Given the description of an element on the screen output the (x, y) to click on. 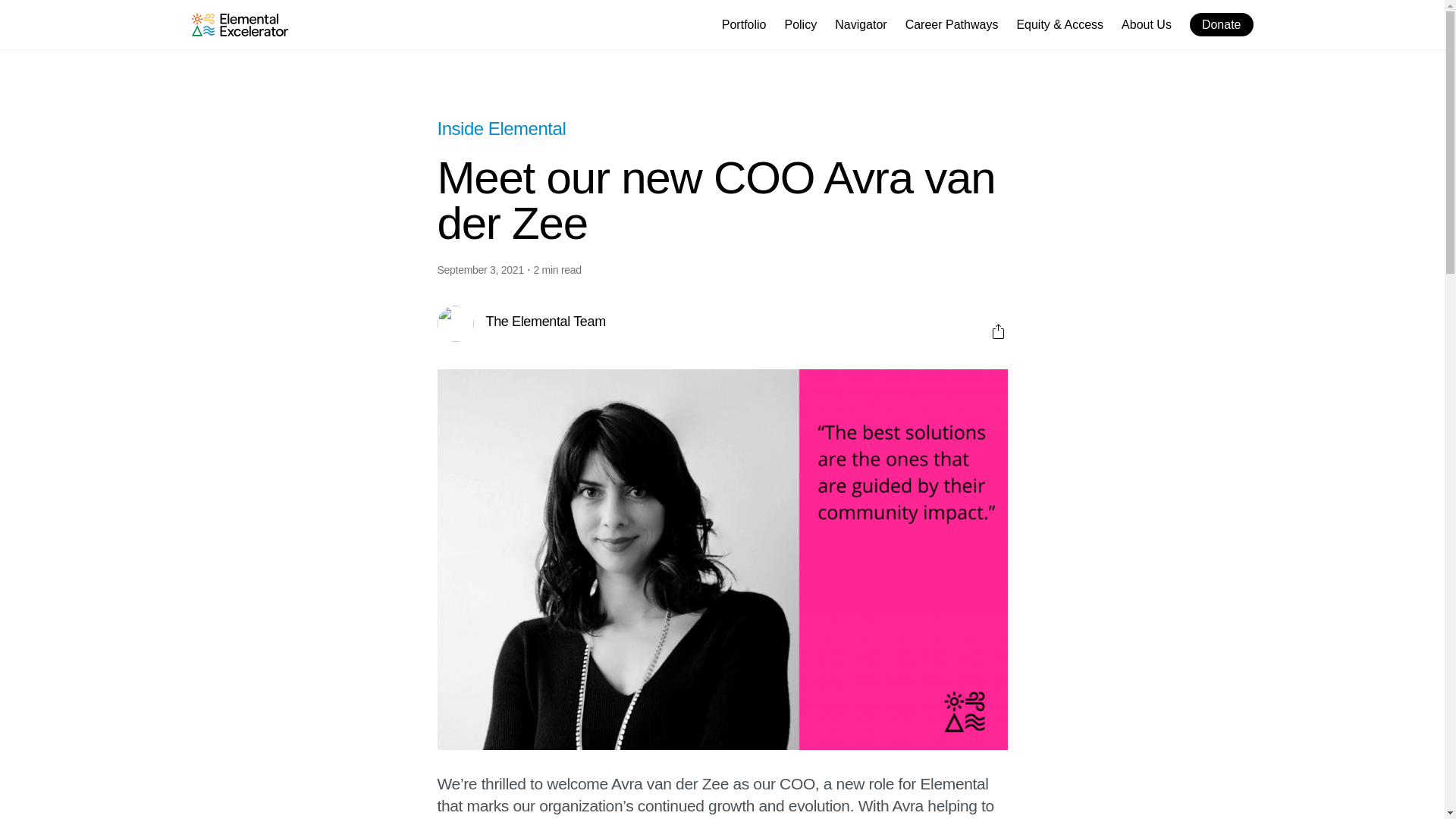
Policy (800, 26)
Portfolio (744, 26)
Donate (1221, 24)
Donate (1221, 24)
About Us (1146, 26)
Navigator (860, 26)
Career Pathways (951, 26)
